Given the description of an element on the screen output the (x, y) to click on. 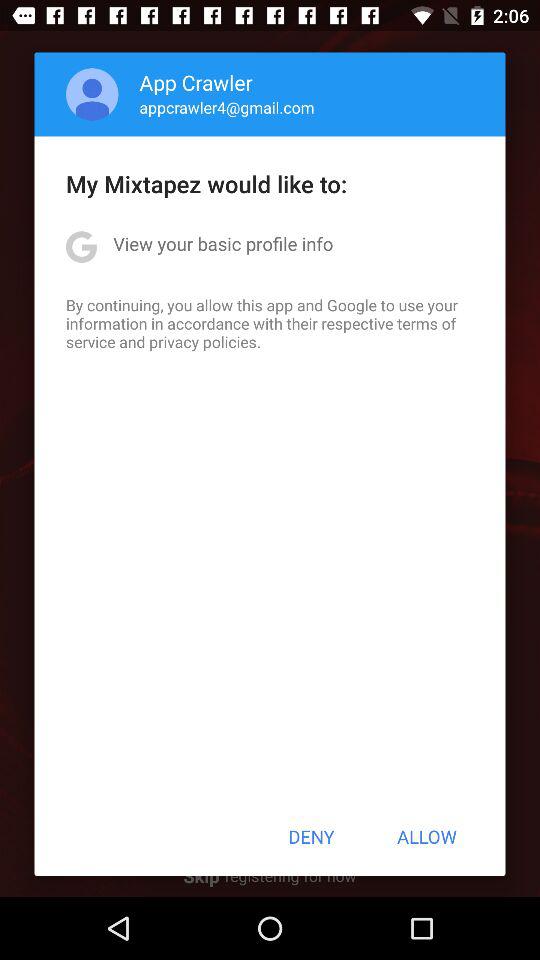
flip to app crawler icon (195, 82)
